Given the description of an element on the screen output the (x, y) to click on. 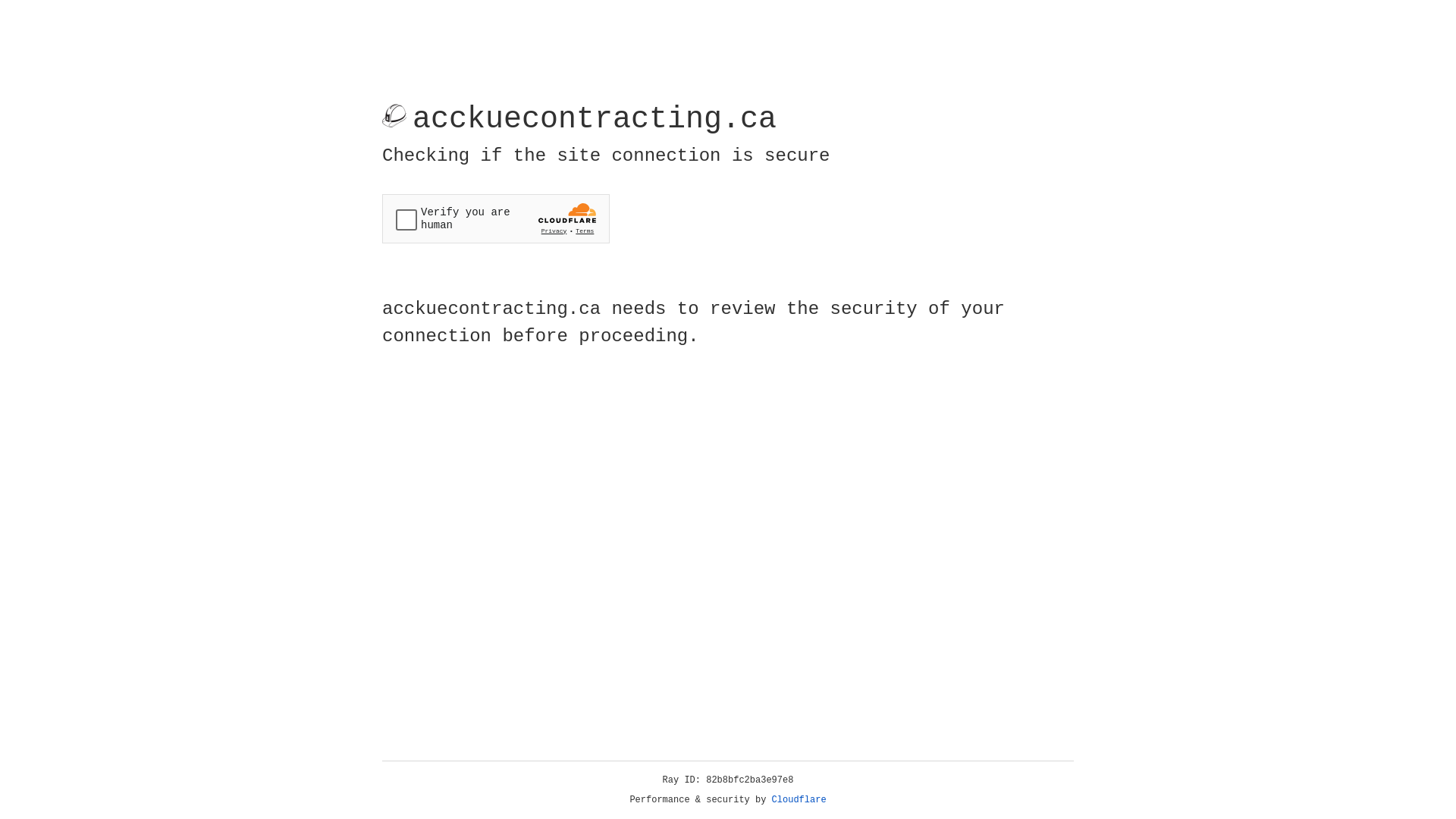
Cloudflare Element type: text (798, 799)
Widget containing a Cloudflare security challenge Element type: hover (495, 218)
